Given the description of an element on the screen output the (x, y) to click on. 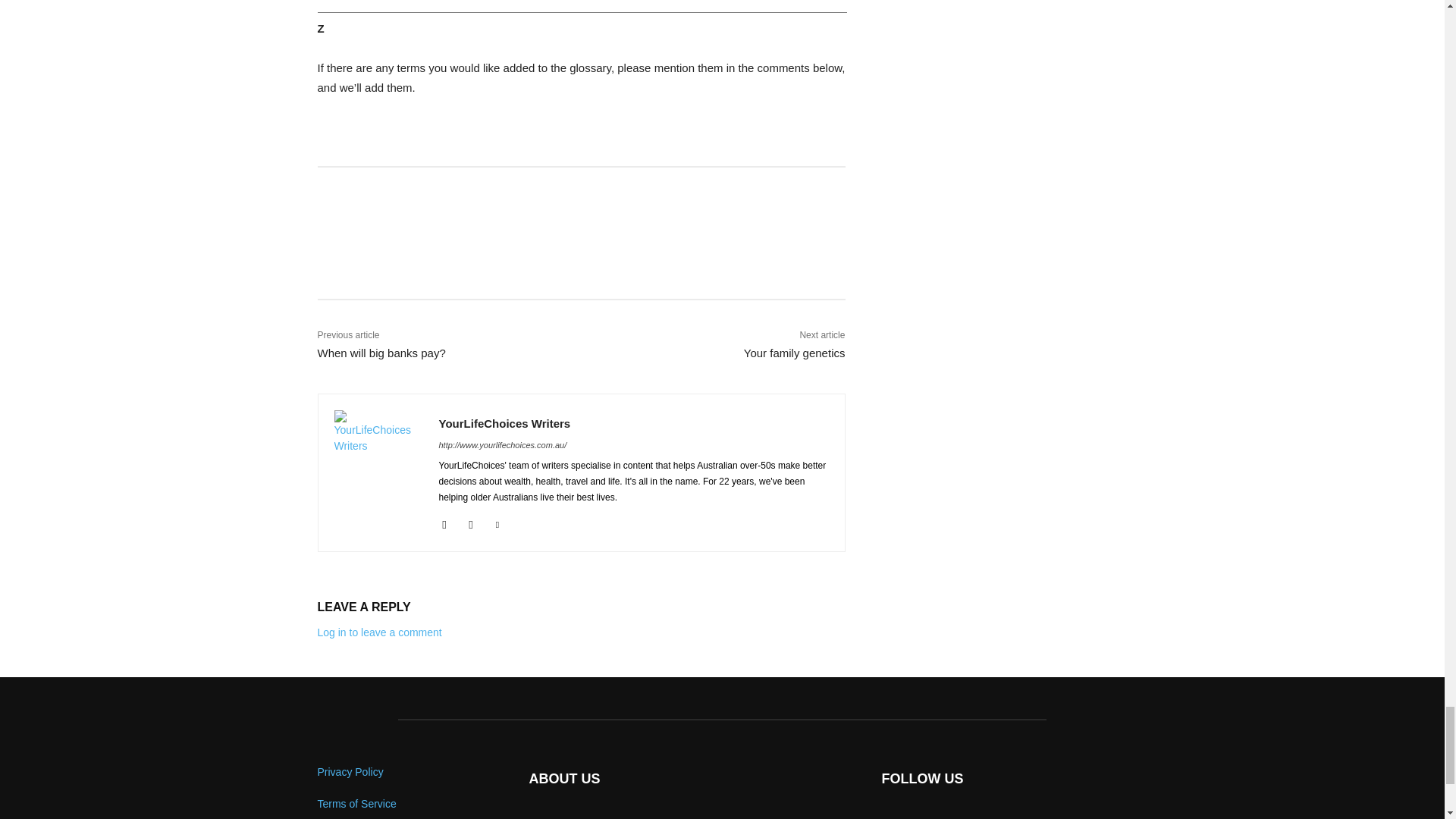
Facebook (443, 521)
Linkedin (497, 521)
Instagram (471, 521)
